Given the description of an element on the screen output the (x, y) to click on. 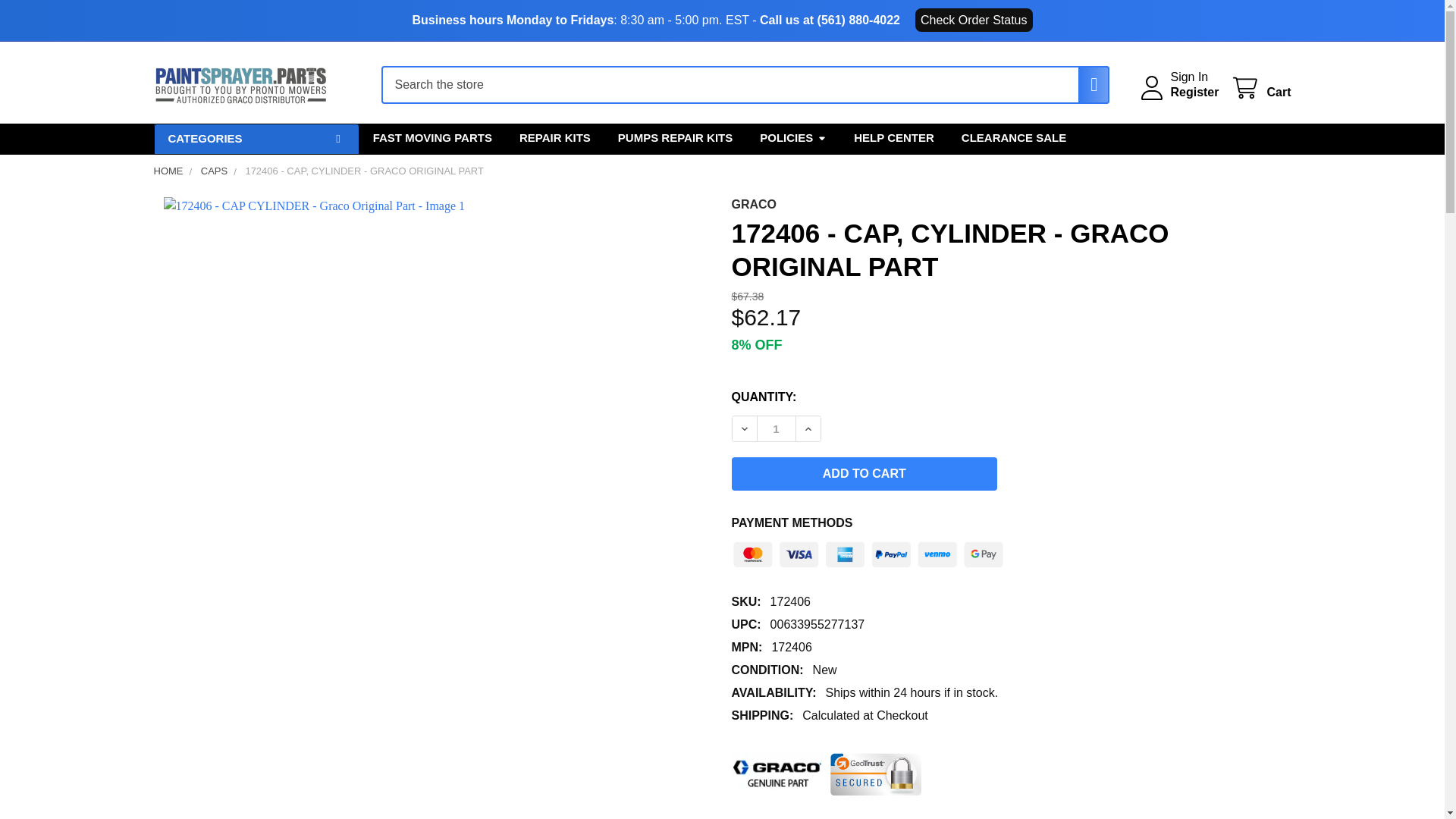
1 (775, 428)
Cart (1260, 87)
Paintsprayer Parts (239, 84)
Add to Cart (863, 473)
Check Order Status (973, 19)
GeoTrust Secured (874, 773)
Search (1085, 85)
Graco Original part (776, 773)
Payment Methods (867, 551)
CATEGORIES (255, 138)
Sign In (1189, 77)
Search (1085, 85)
Register (1194, 92)
Cart (1260, 87)
